Given the description of an element on the screen output the (x, y) to click on. 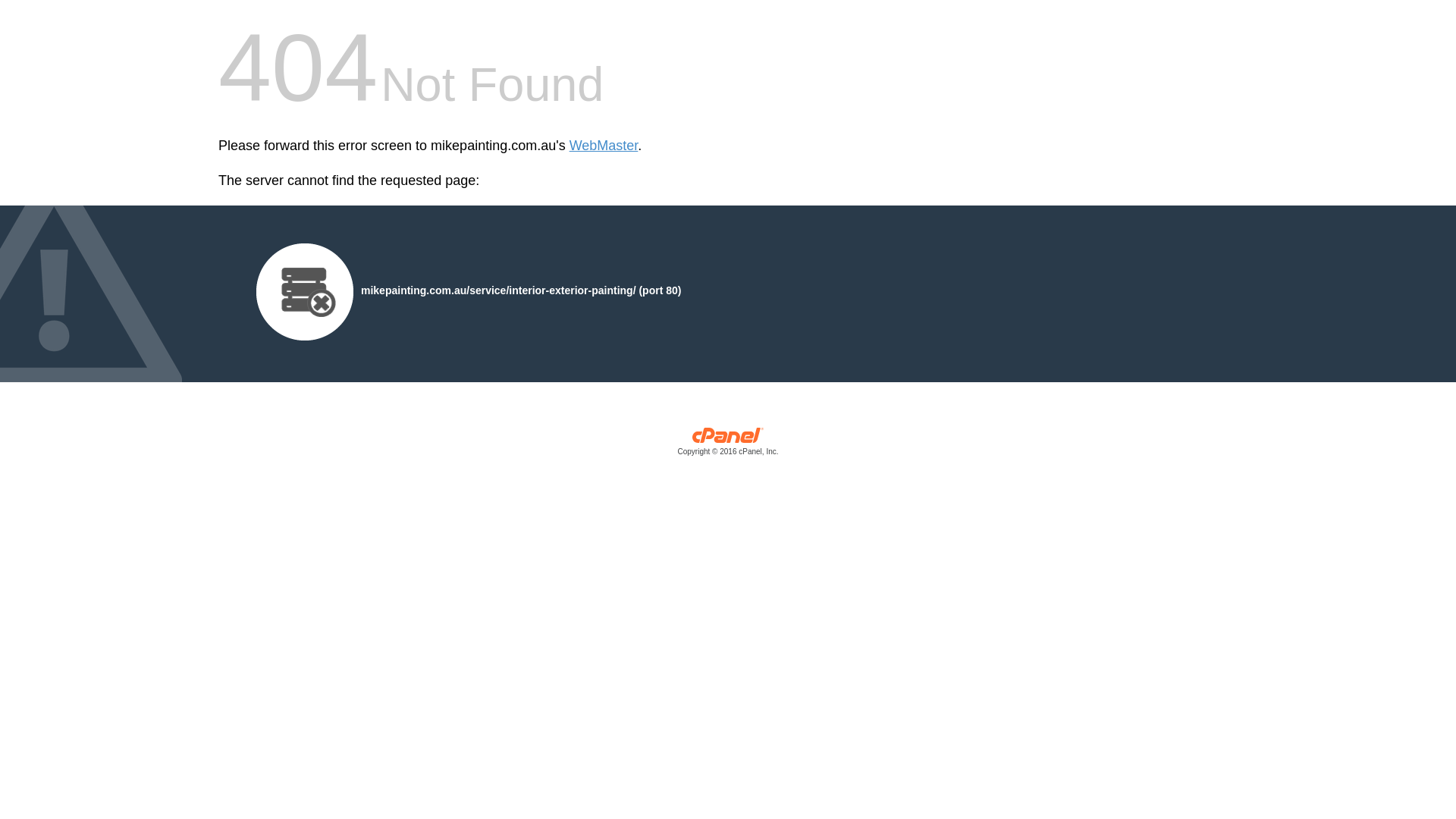
WebMaster Element type: text (603, 145)
